Given the description of an element on the screen output the (x, y) to click on. 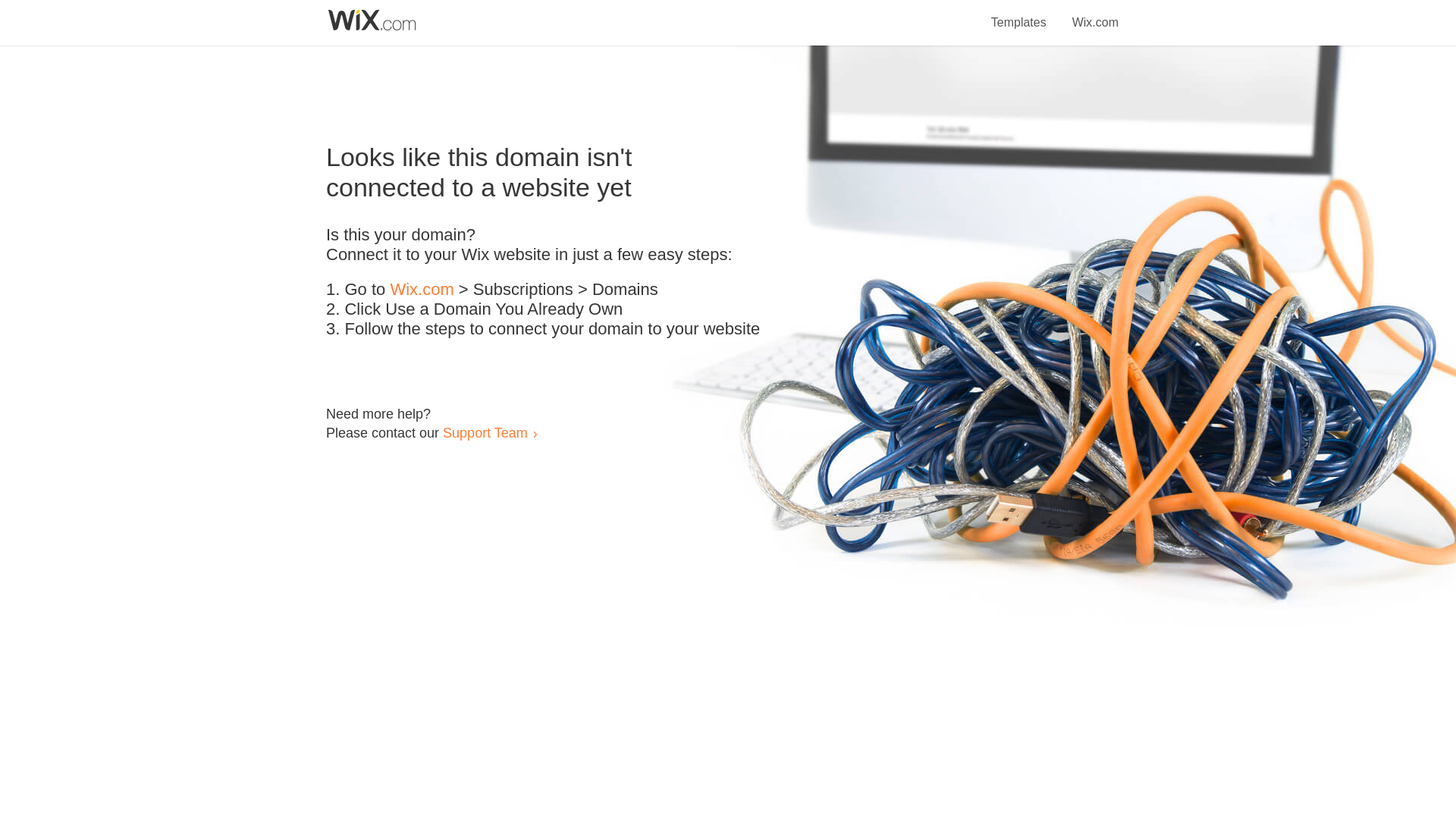
Wix.com (1095, 14)
Wix.com (421, 289)
Templates (1018, 14)
Support Team (484, 432)
